Given the description of an element on the screen output the (x, y) to click on. 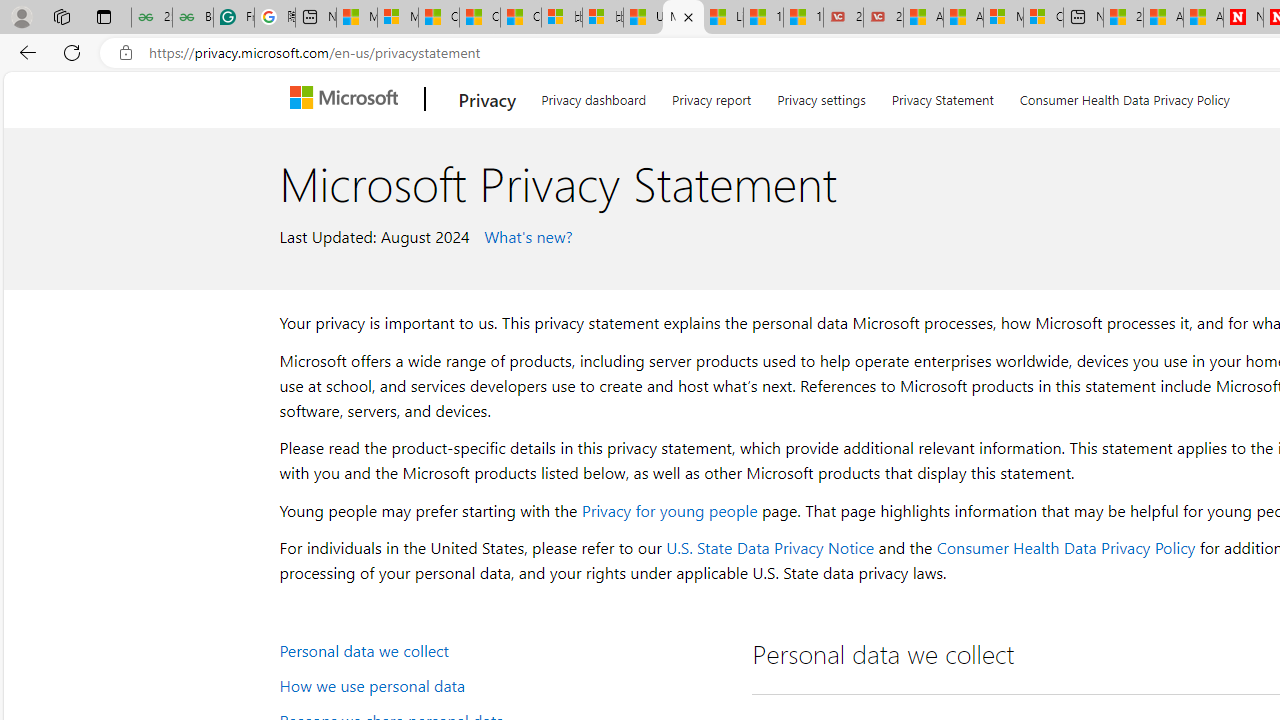
Cloud Computing Services | Microsoft Azure (1043, 17)
Privacy settings (821, 96)
Privacy Statement (942, 96)
15 Ways Modern Life Contradicts the Teachings of Jesus (803, 17)
21 Movies That Outdid the Books They Were Based On (883, 17)
